Given the description of an element on the screen output the (x, y) to click on. 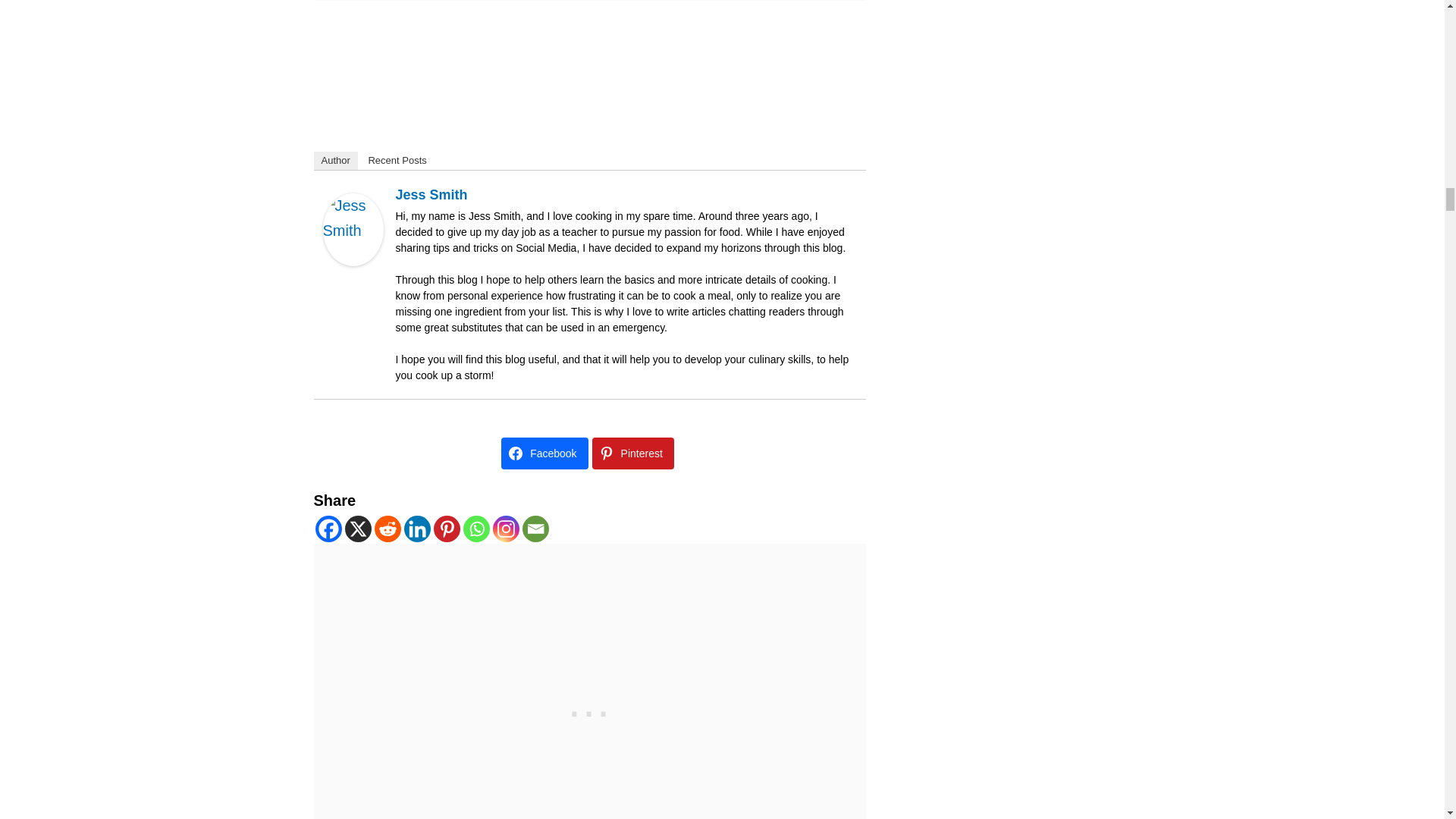
Instagram (506, 528)
Share on Pinterest (633, 453)
Email (534, 528)
Reddit (387, 528)
EatWild - How to hang and skin a deer on the meat pole (590, 65)
Linkedin (416, 528)
Pinterest (446, 528)
X (357, 528)
Facebook (328, 528)
Share on Facebook (544, 453)
Whatsapp (476, 528)
